Given the description of an element on the screen output the (x, y) to click on. 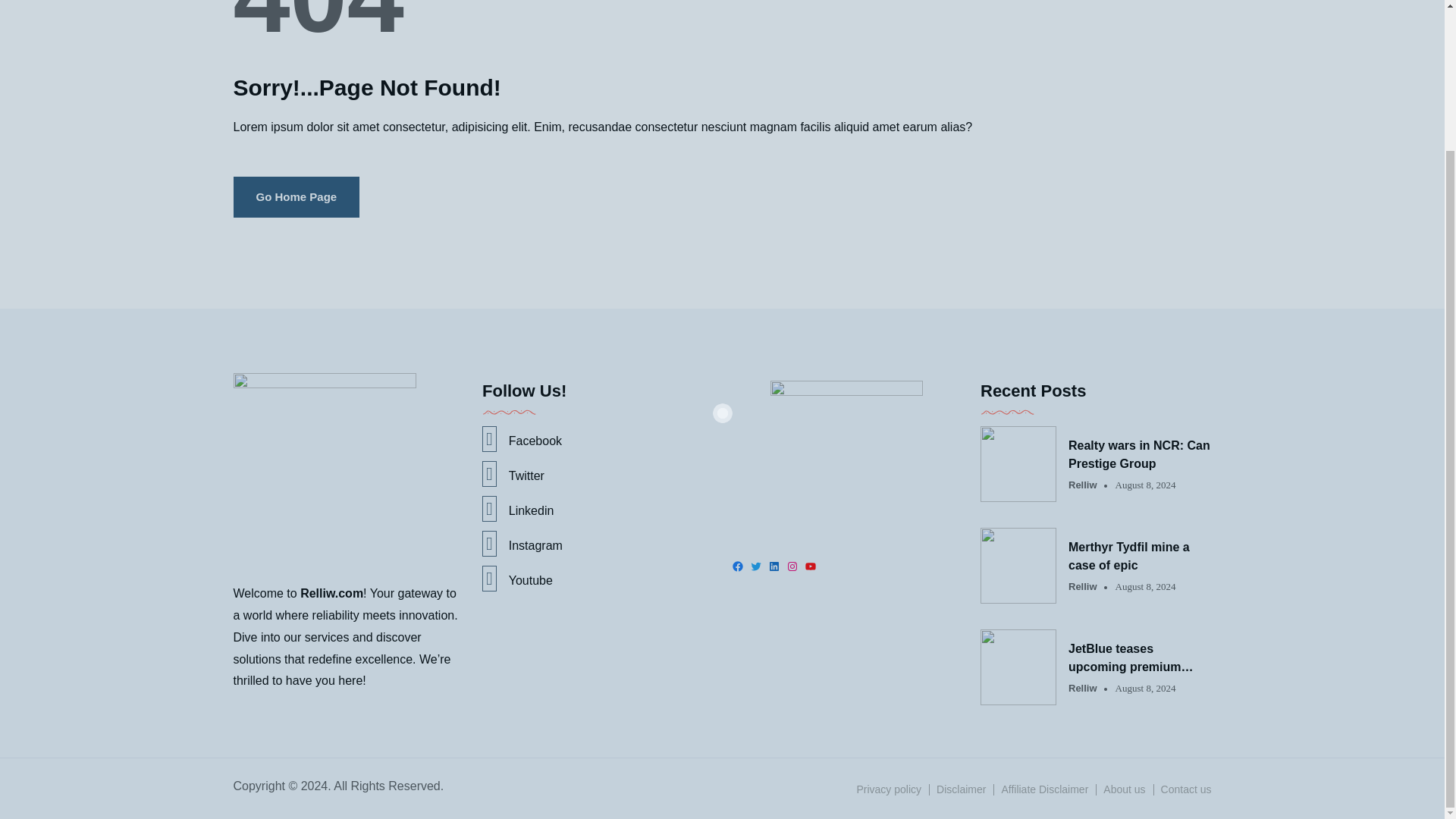
Merthyr Tydfil mine a case of epic (1139, 556)
Go Home Page (295, 197)
button-pintrest-1 (846, 456)
Youtube (597, 578)
Instagram (597, 543)
Twitter (597, 473)
Relliw (1082, 586)
Facebook (597, 438)
Realty wars in NCR: Can Prestige Group (1139, 454)
Linkedin (597, 508)
